Given the description of an element on the screen output the (x, y) to click on. 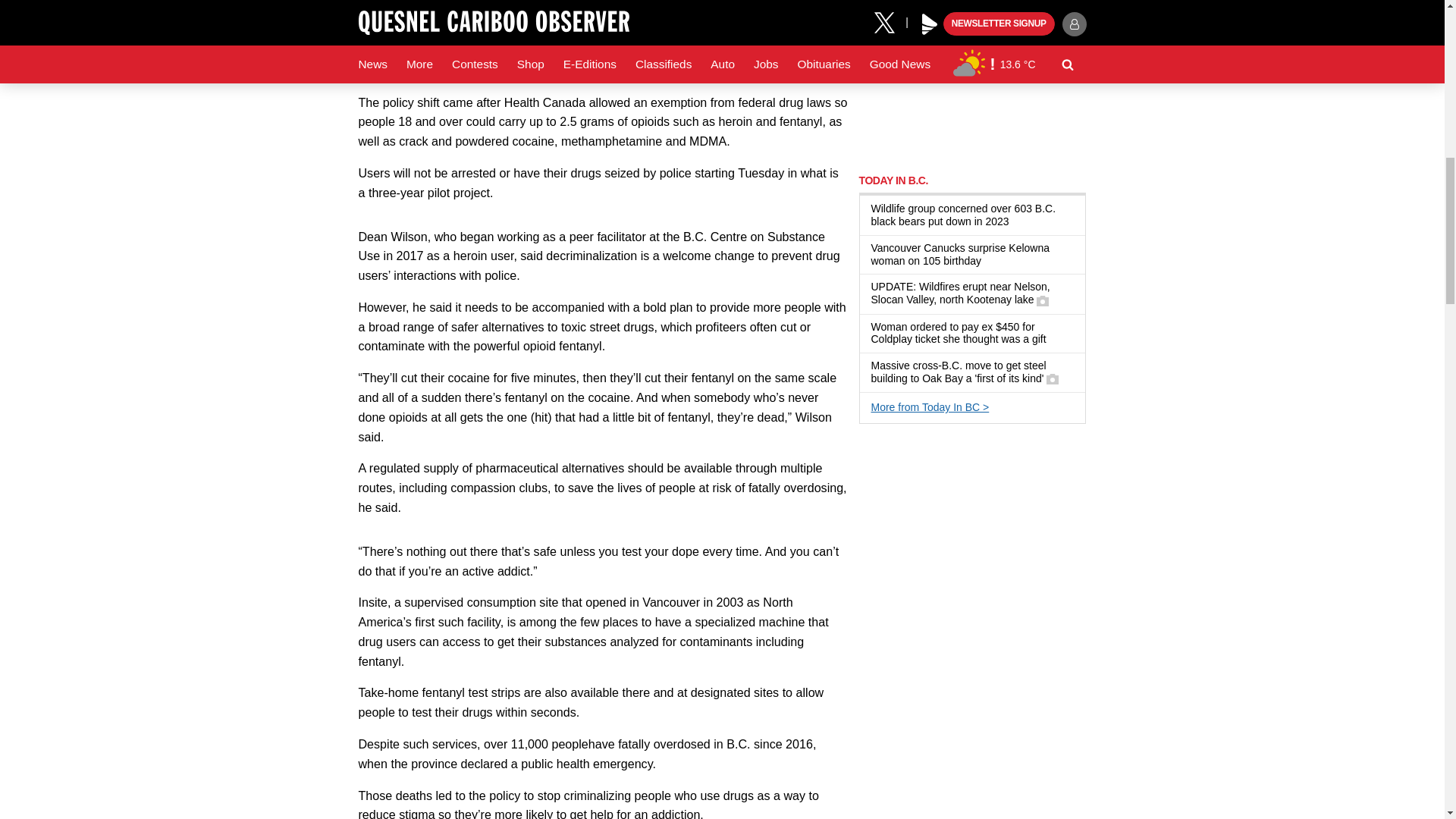
Has a gallery (1042, 300)
3rd party ad content (972, 79)
Has a gallery (1052, 378)
